Given the description of an element on the screen output the (x, y) to click on. 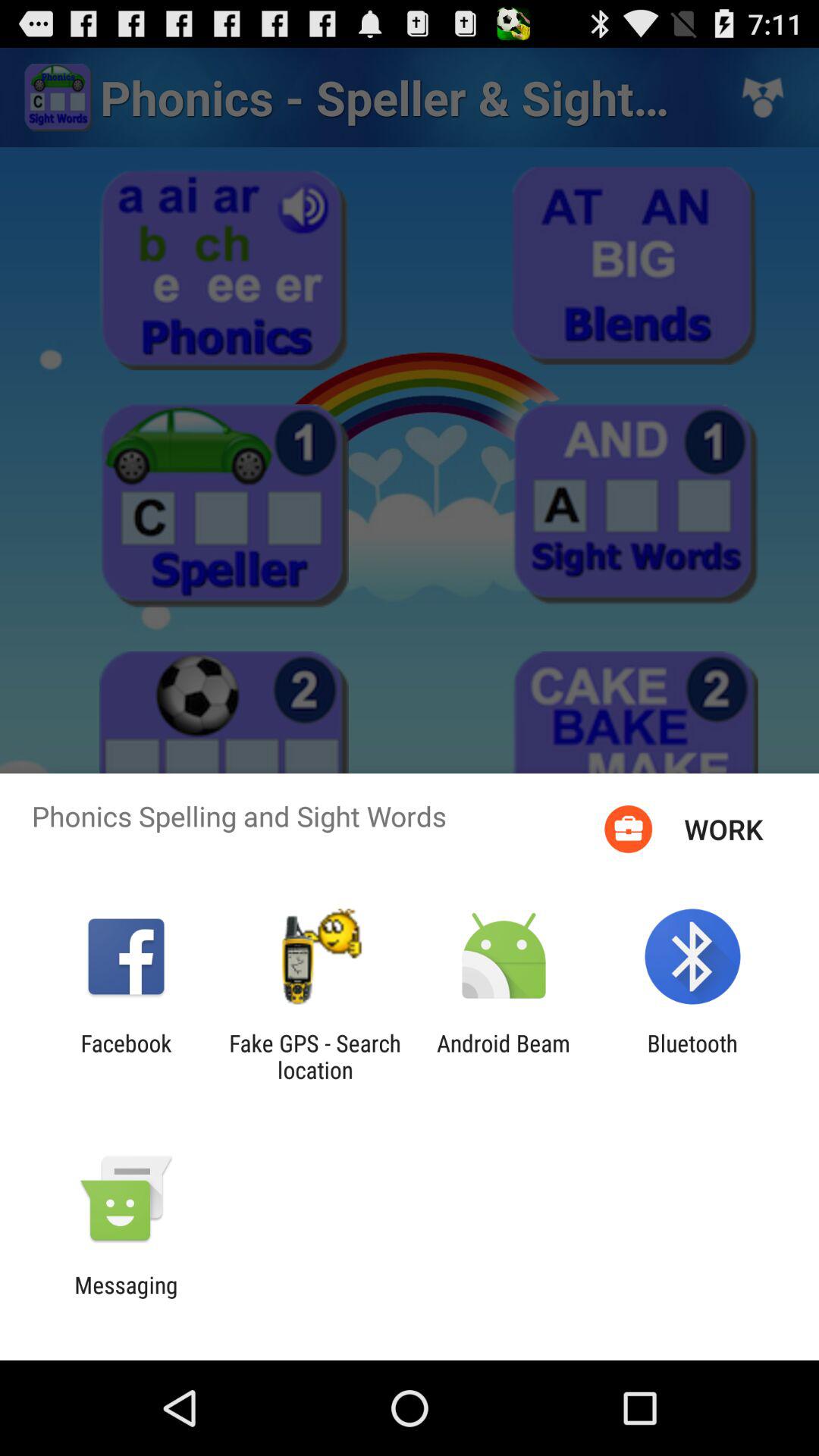
click item next to the fake gps search item (503, 1056)
